Given the description of an element on the screen output the (x, y) to click on. 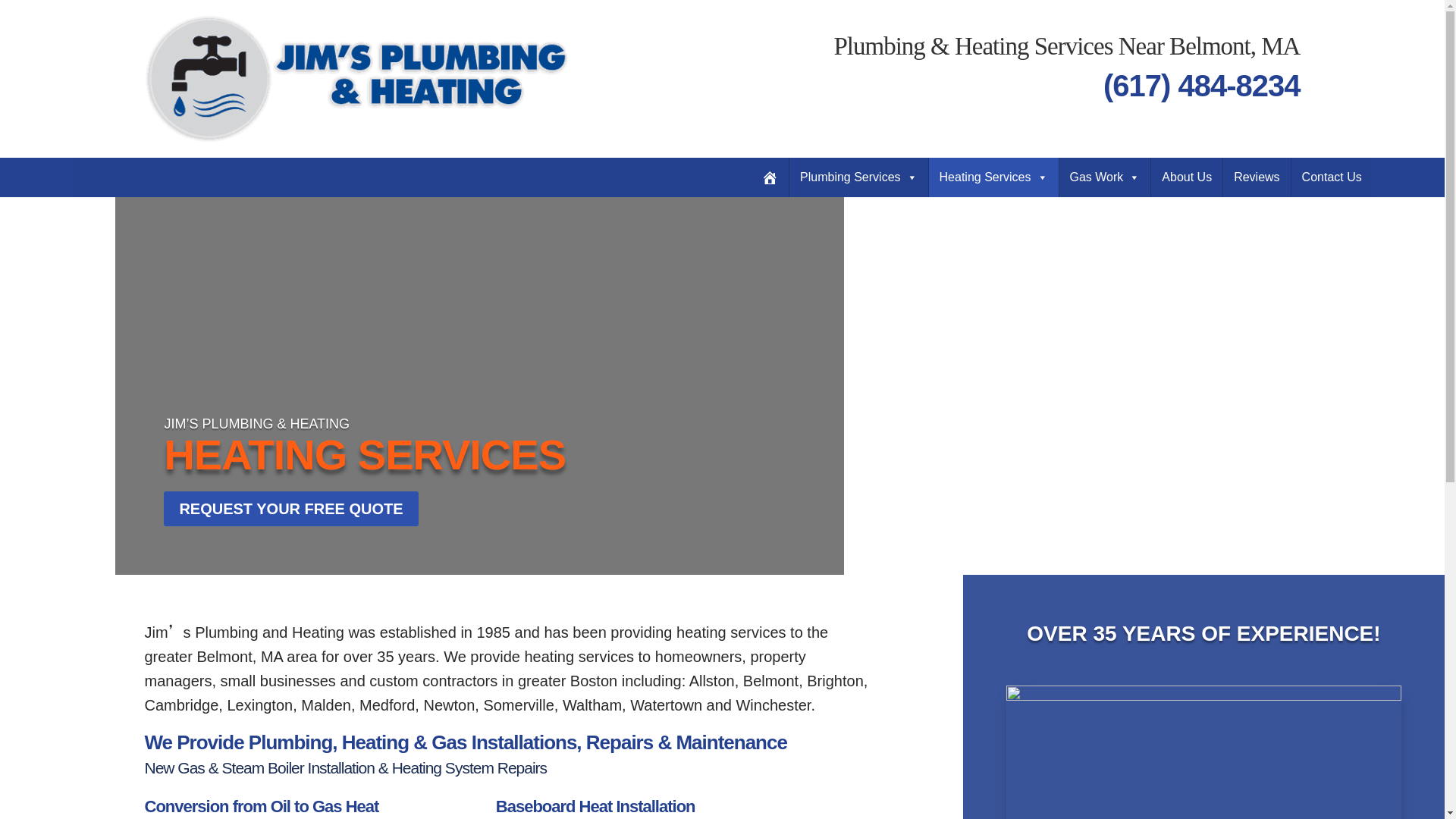
Reviews (1256, 177)
REQUEST YOUR FREE QUOTE (290, 508)
Heating Services (993, 177)
logo-jims-plumbing-heating (355, 78)
Plumbing Services (858, 177)
Contact Us (1332, 177)
About Us (1187, 177)
Gas Work (1104, 177)
jims-plumbing-heating-services-photo-1 (1203, 696)
